Given the description of an element on the screen output the (x, y) to click on. 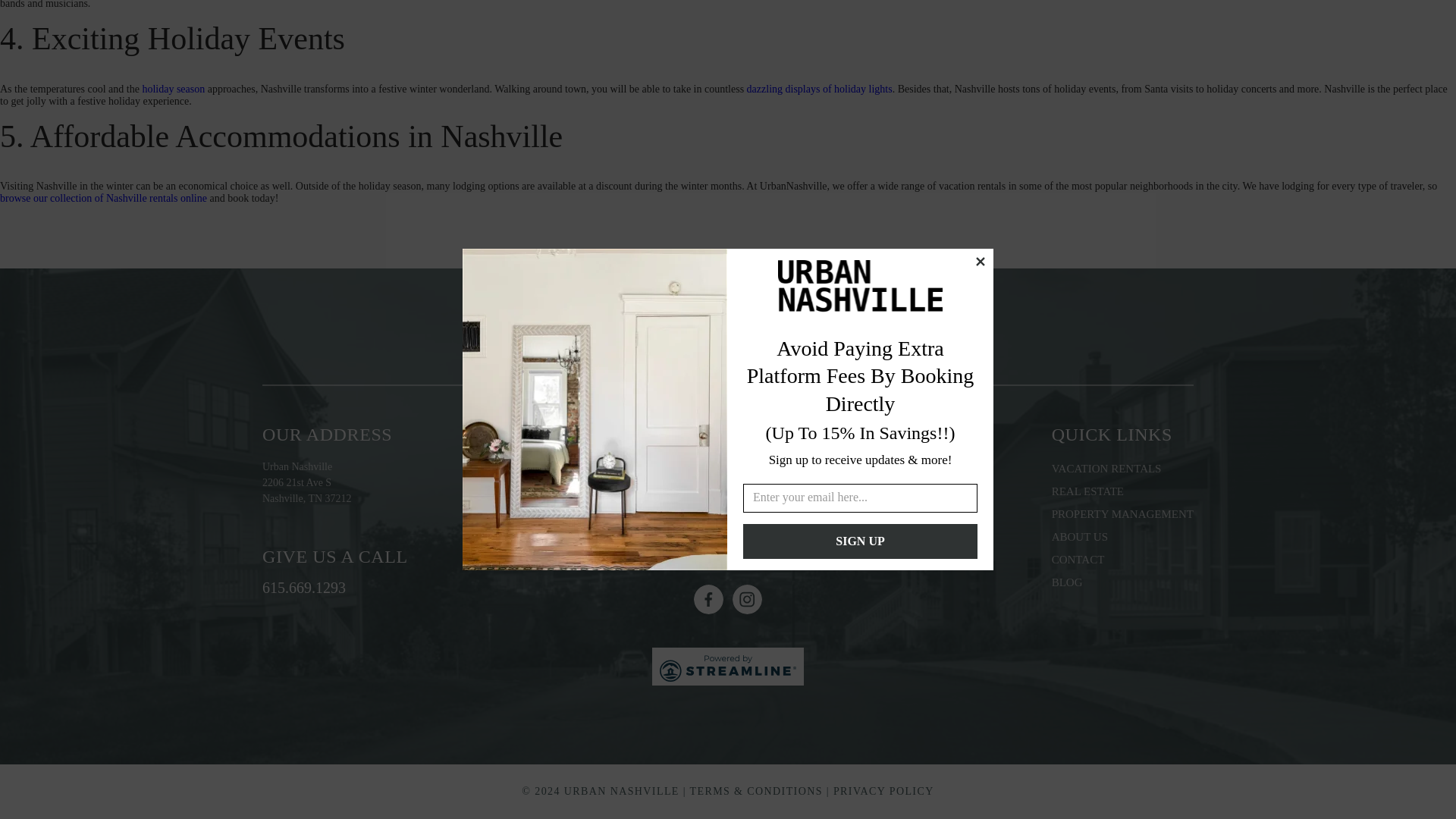
Sign Up (859, 143)
